Given the description of an element on the screen output the (x, y) to click on. 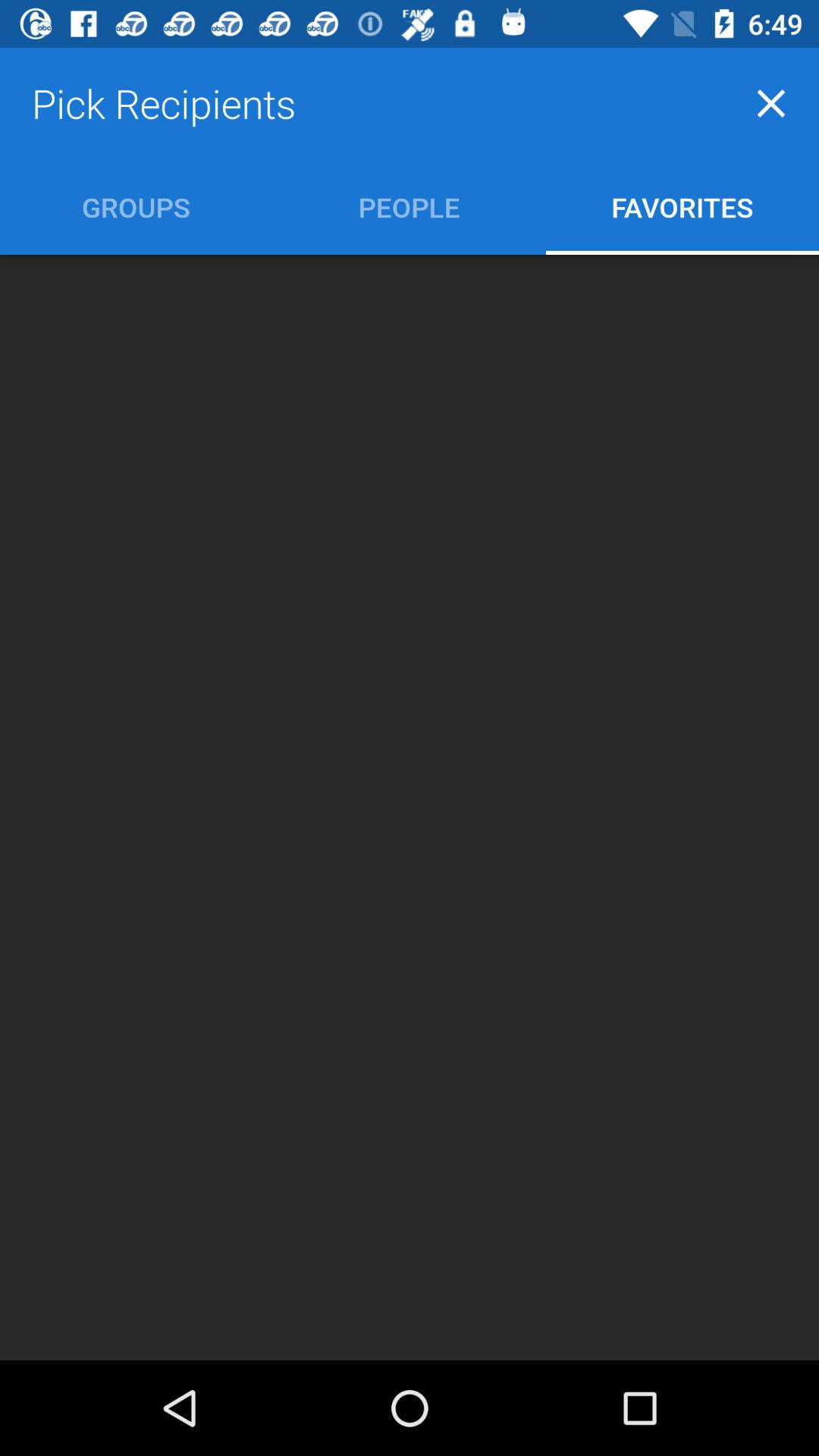
turn off icon below pick recipients item (409, 206)
